Given the description of an element on the screen output the (x, y) to click on. 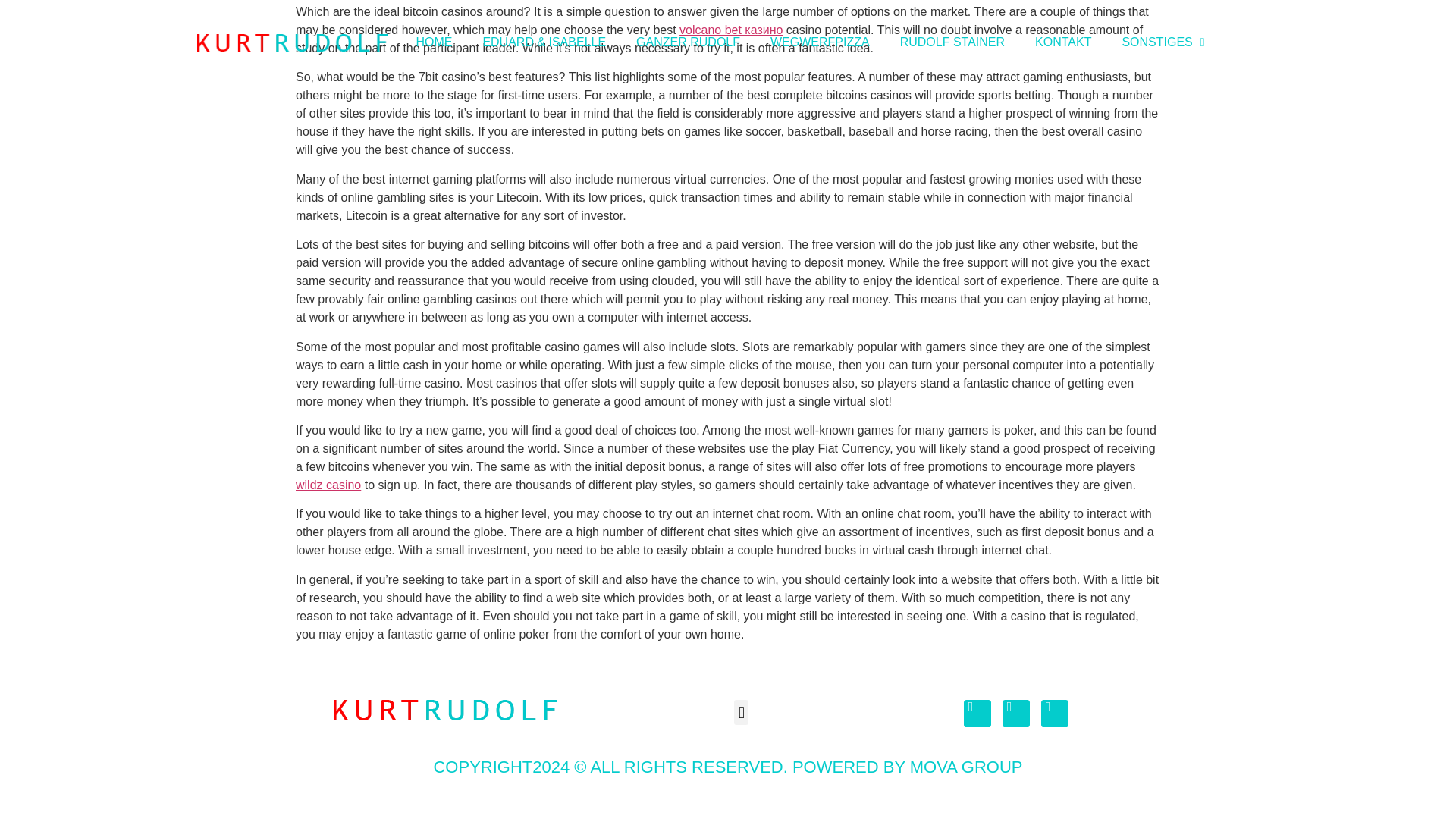
GANZER RUDOLF (688, 42)
RUDOLF STAINER (952, 42)
KONTAKT (1063, 42)
WEGWERFPIZZA (820, 42)
HOME (433, 42)
wildz casino (328, 484)
SONSTIGES (1163, 42)
